Given the description of an element on the screen output the (x, y) to click on. 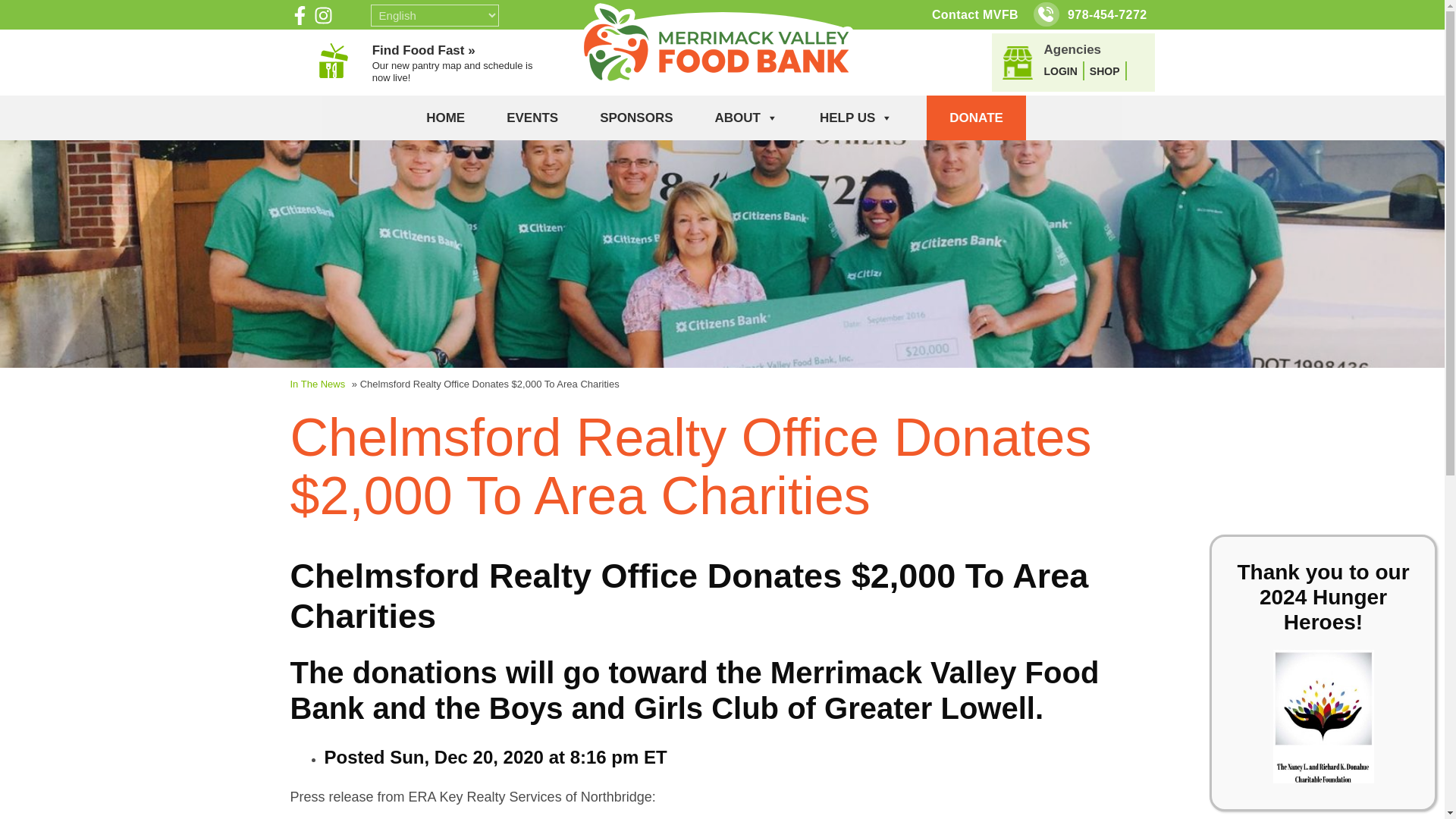
Contact MVFB (974, 14)
phone-call (1045, 14)
978-454-7272 (1107, 14)
